Given the description of an element on the screen output the (x, y) to click on. 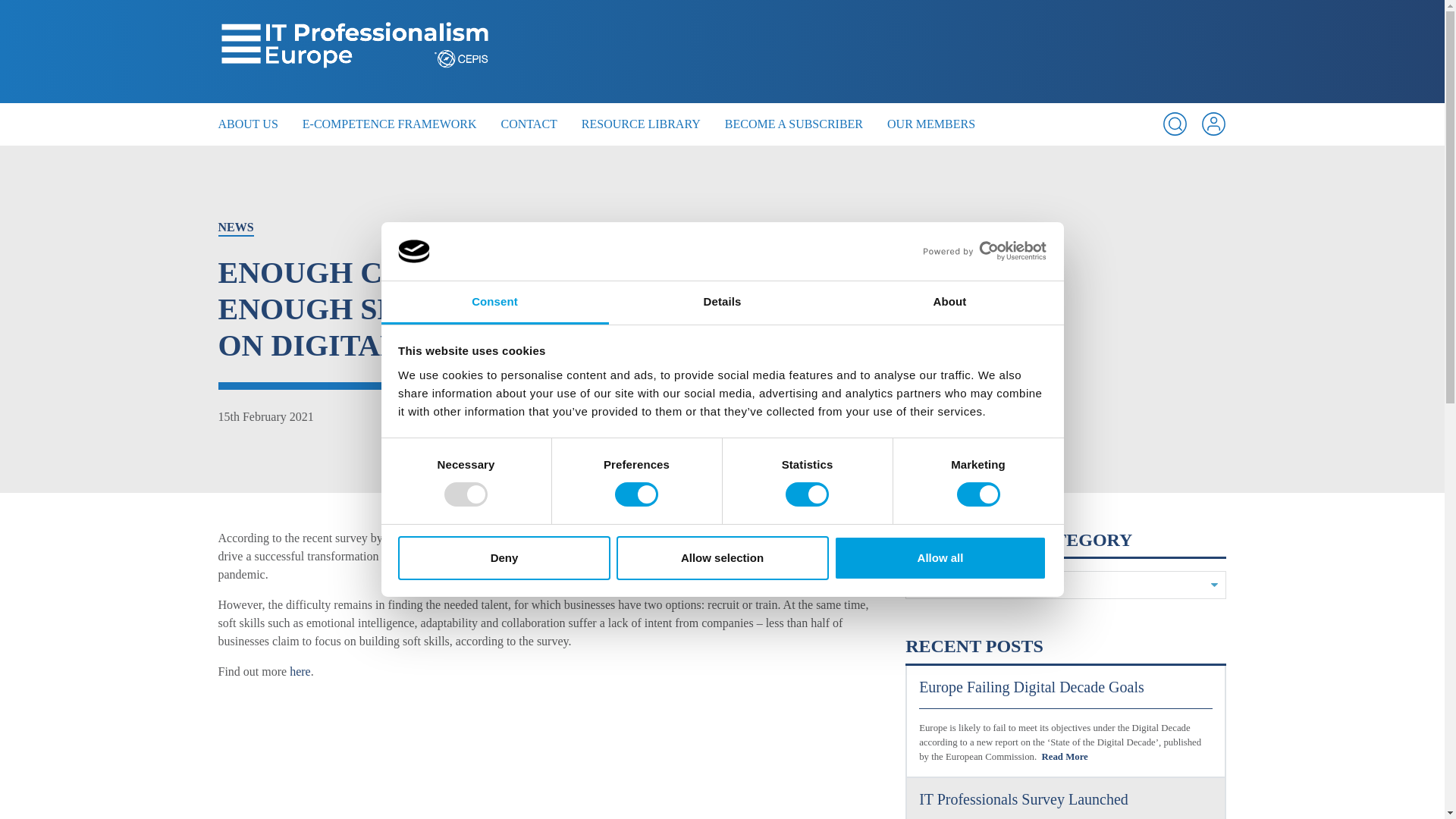
ITPE (355, 51)
Europe Failing Digital Decade Goals (1065, 693)
Consent (494, 302)
Details (721, 302)
About (948, 302)
